Given the description of an element on the screen output the (x, y) to click on. 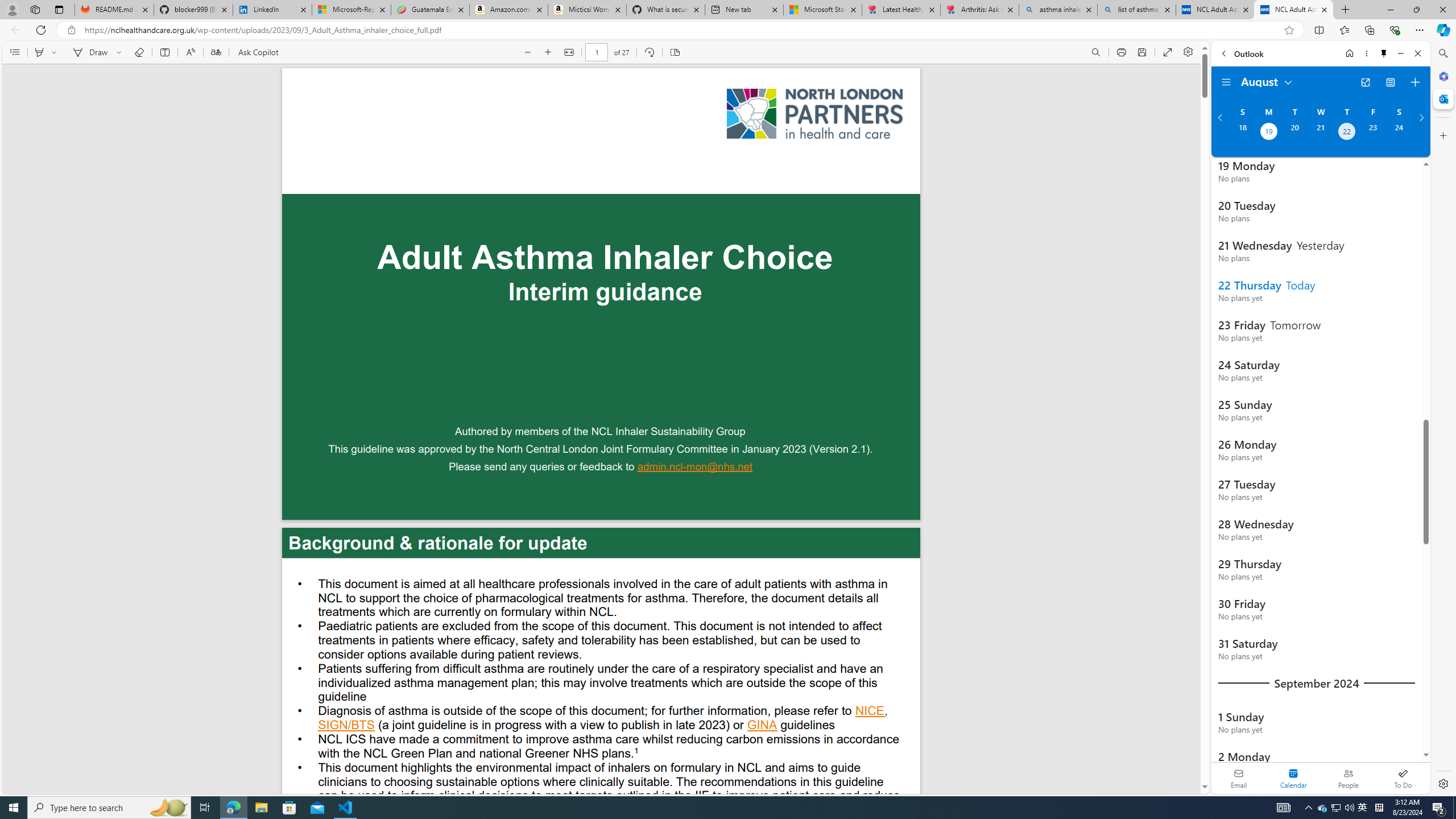
Friday, August 23, 2024.  (1372, 132)
Read aloud (189, 52)
GINA  (761, 726)
asthma inhaler - Search (1057, 9)
Thursday, August 22, 2024. Today.  (1346, 132)
Address and search bar (681, 29)
App bar (728, 29)
NICE (870, 711)
list of asthma inhalers uk - Search (1136, 9)
Settings and more (1187, 52)
